Given the description of an element on the screen output the (x, y) to click on. 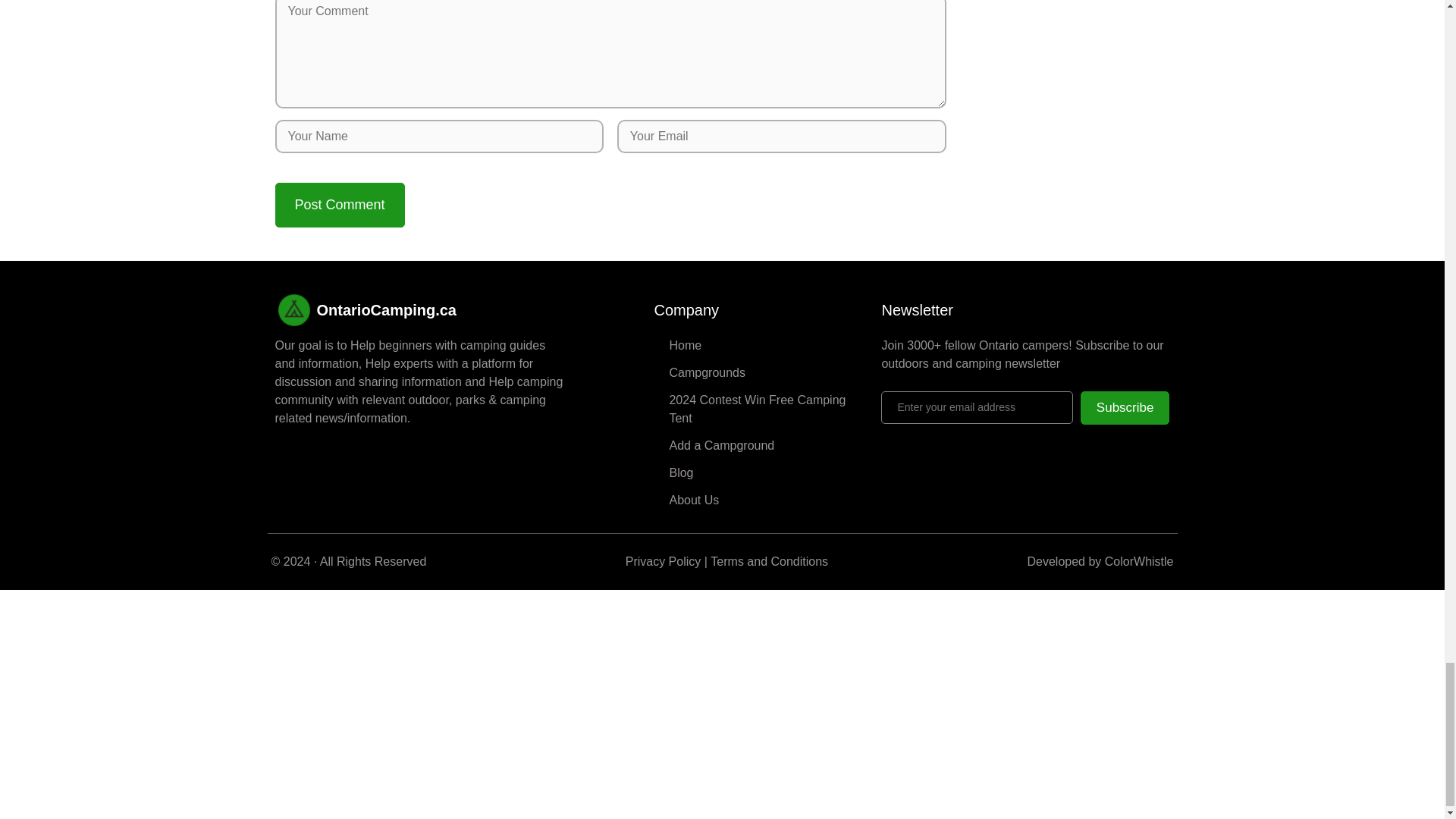
Subscribe (1125, 408)
Post Comment (339, 204)
